Given the description of an element on the screen output the (x, y) to click on. 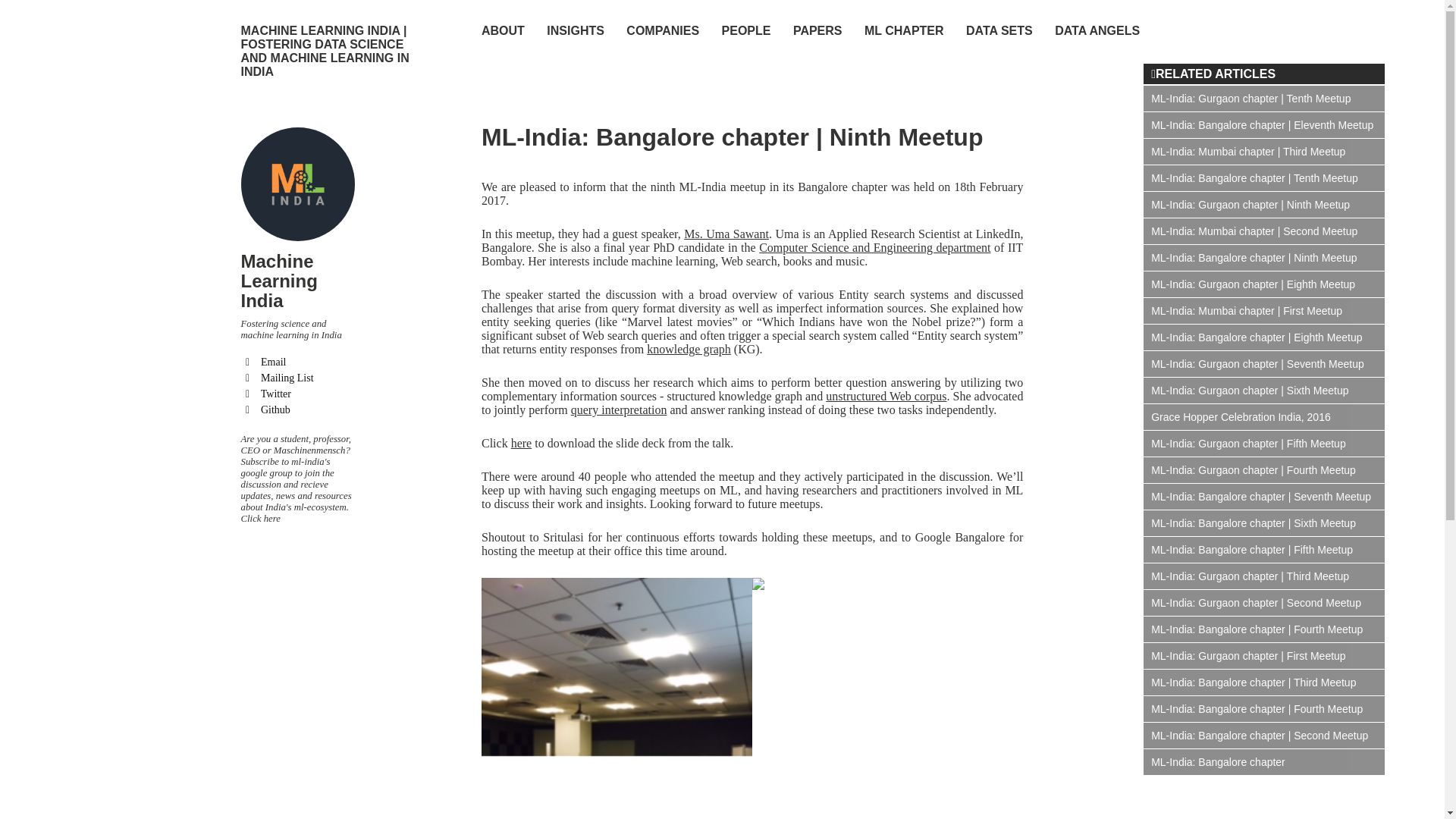
COMPANIES (662, 30)
unstructured Web corpus (885, 395)
Email (298, 362)
PEOPLE (746, 30)
here (521, 442)
Twitter (298, 394)
DATA SETS (999, 30)
ML CHAPTER (903, 30)
query interpretation (618, 409)
DATA ANGELS (1097, 30)
knowledge graph (688, 349)
PAPERS (818, 30)
Click here (261, 518)
Computer Science and Engineering department (874, 246)
Grace Hopper Celebration India, 2016 (1263, 416)
